Given the description of an element on the screen output the (x, y) to click on. 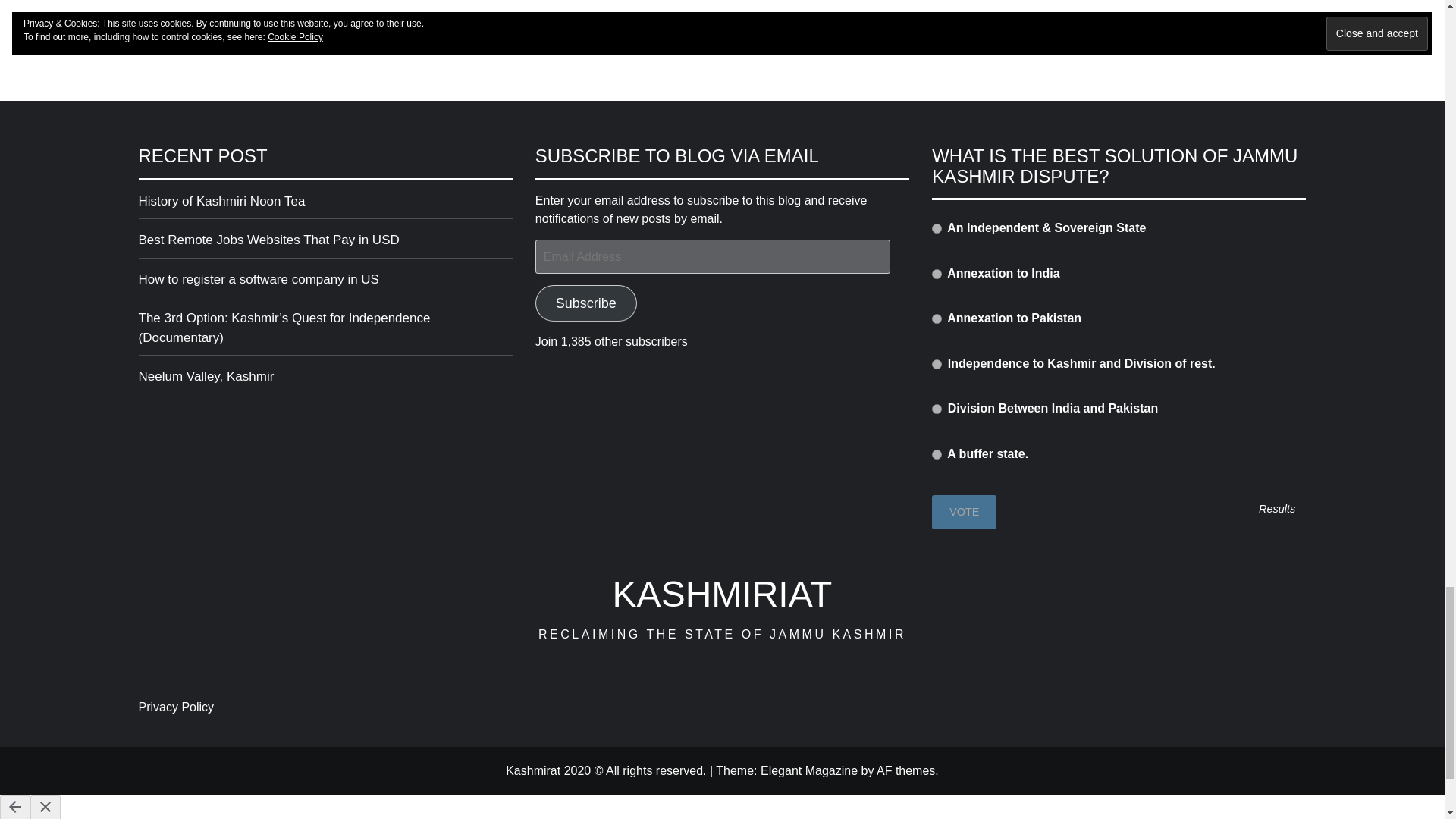
Vote (963, 512)
